Given the description of an element on the screen output the (x, y) to click on. 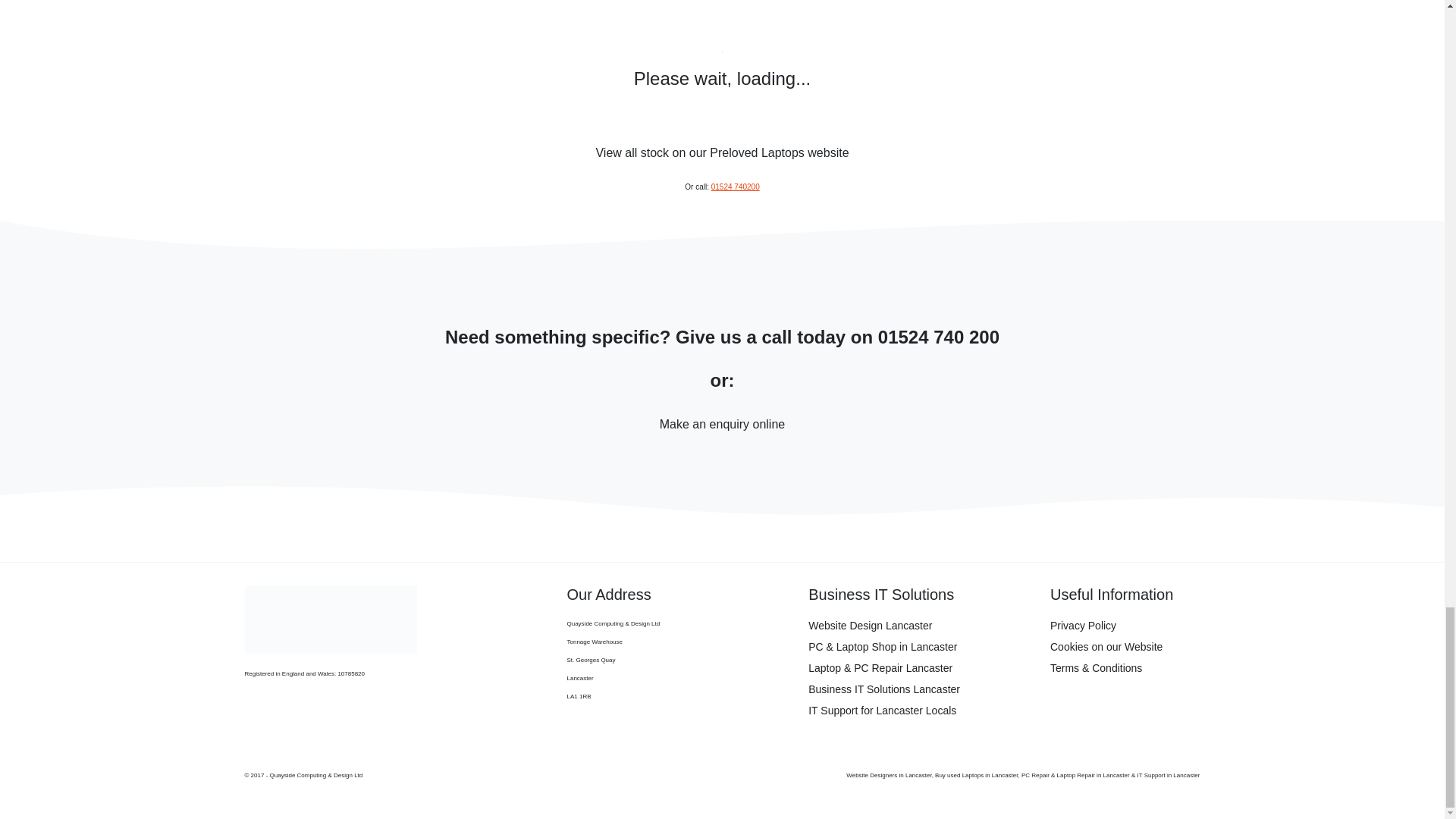
Make an enquiry online (721, 424)
IT Support for Lancaster Locals (923, 710)
Business IT Solutions Lancaster (923, 689)
Website Design Lancaster (923, 625)
01524 740200 (735, 186)
View all stock on our Preloved Laptops website (721, 153)
